Given the description of an element on the screen output the (x, y) to click on. 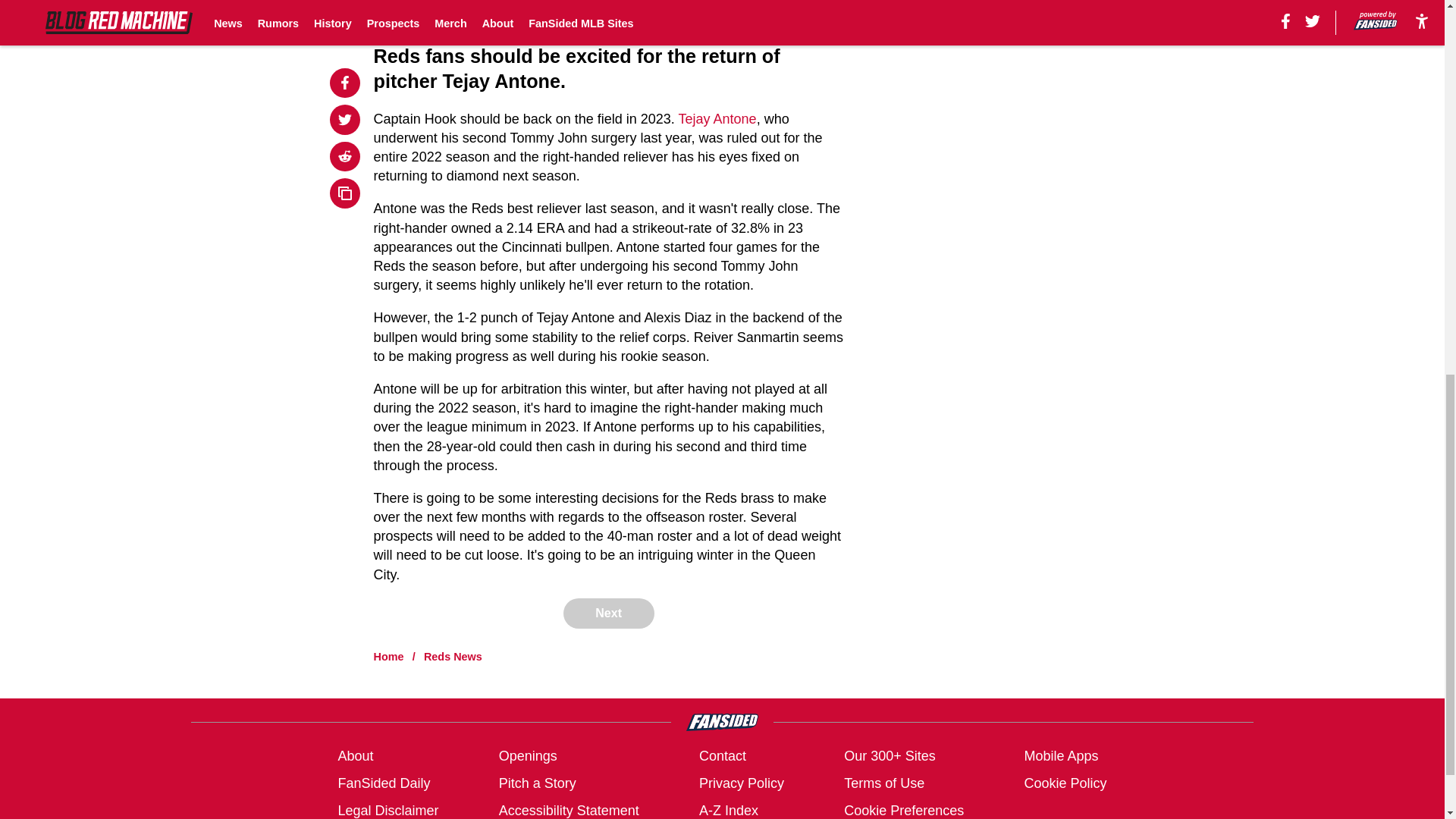
Prev (419, 13)
Next (798, 13)
Tejay Antone (717, 118)
Next (608, 613)
Home (389, 656)
